Given the description of an element on the screen output the (x, y) to click on. 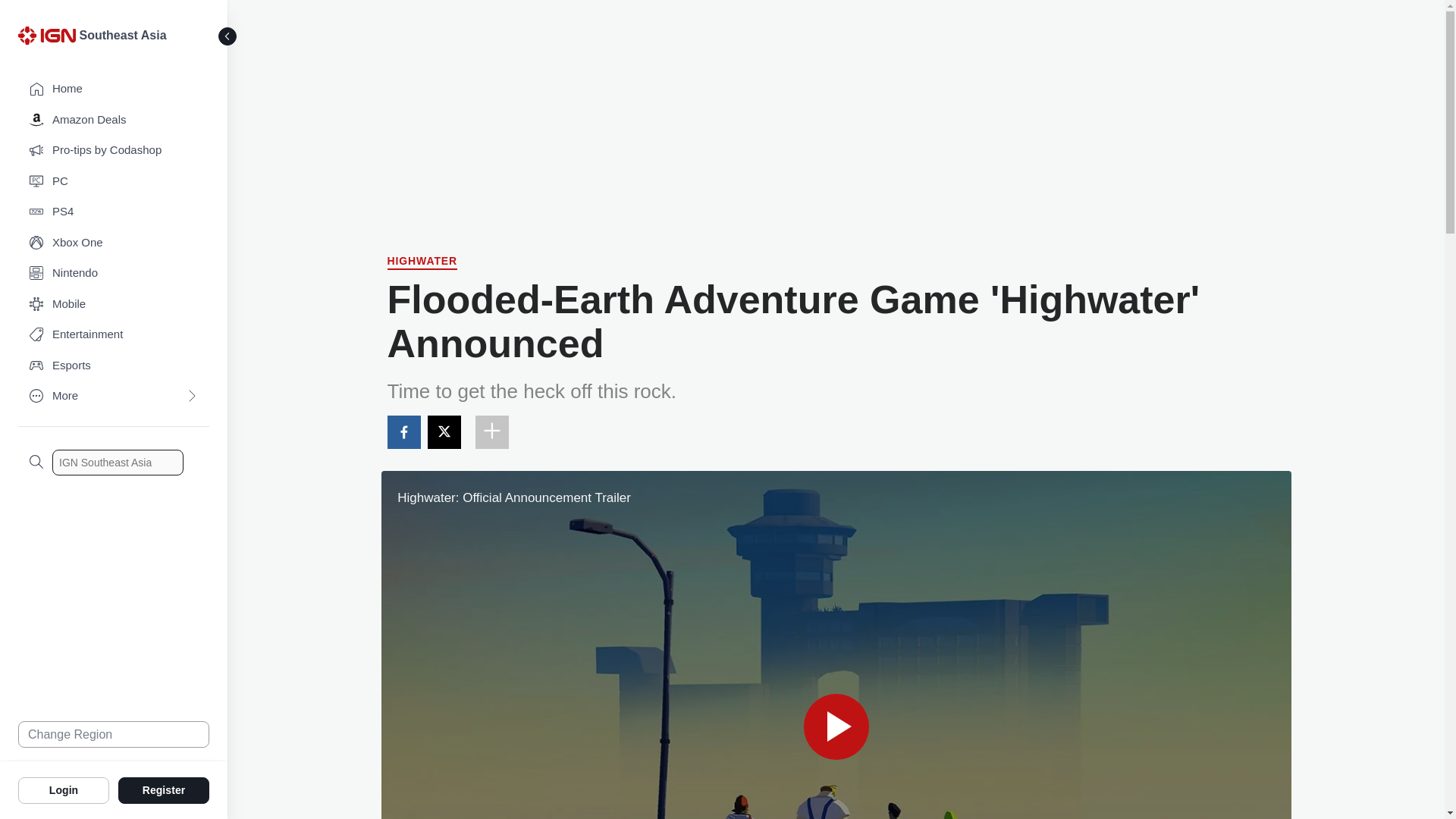
Toggle Sidebar (226, 36)
HIGHWATER (422, 262)
Mobile (113, 304)
Highwater (422, 262)
Home (113, 89)
PC (113, 181)
Pro-tips by Codashop (113, 150)
IGN Logo (46, 34)
IGN Logo (48, 39)
Esports (113, 365)
Xbox One (113, 242)
PS4 (113, 211)
Entertainment (113, 334)
Nintendo (113, 273)
Register (163, 789)
